Given the description of an element on the screen output the (x, y) to click on. 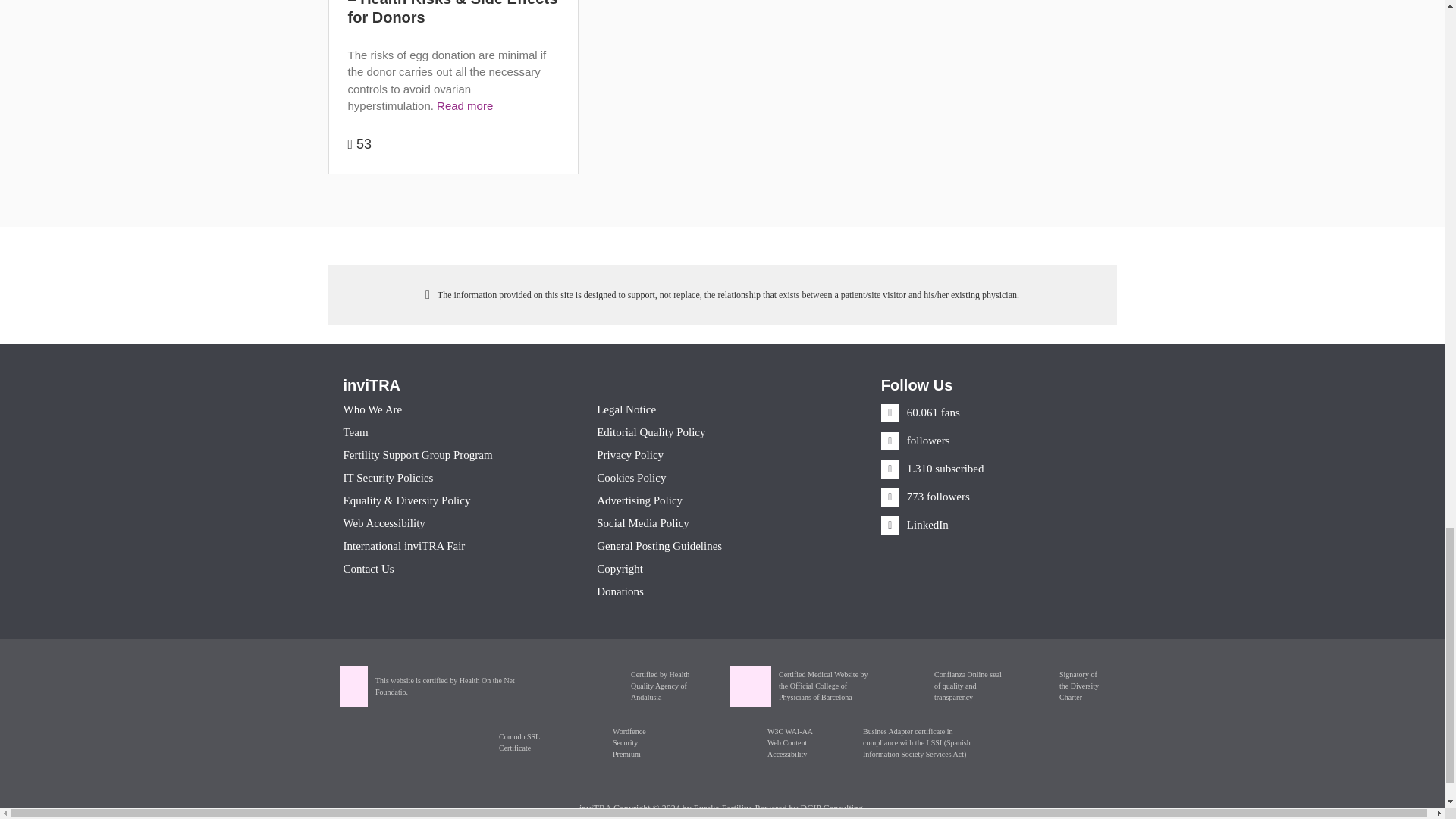
Twitter (915, 440)
Youtube (932, 468)
Facebook (919, 412)
